Given the description of an element on the screen output the (x, y) to click on. 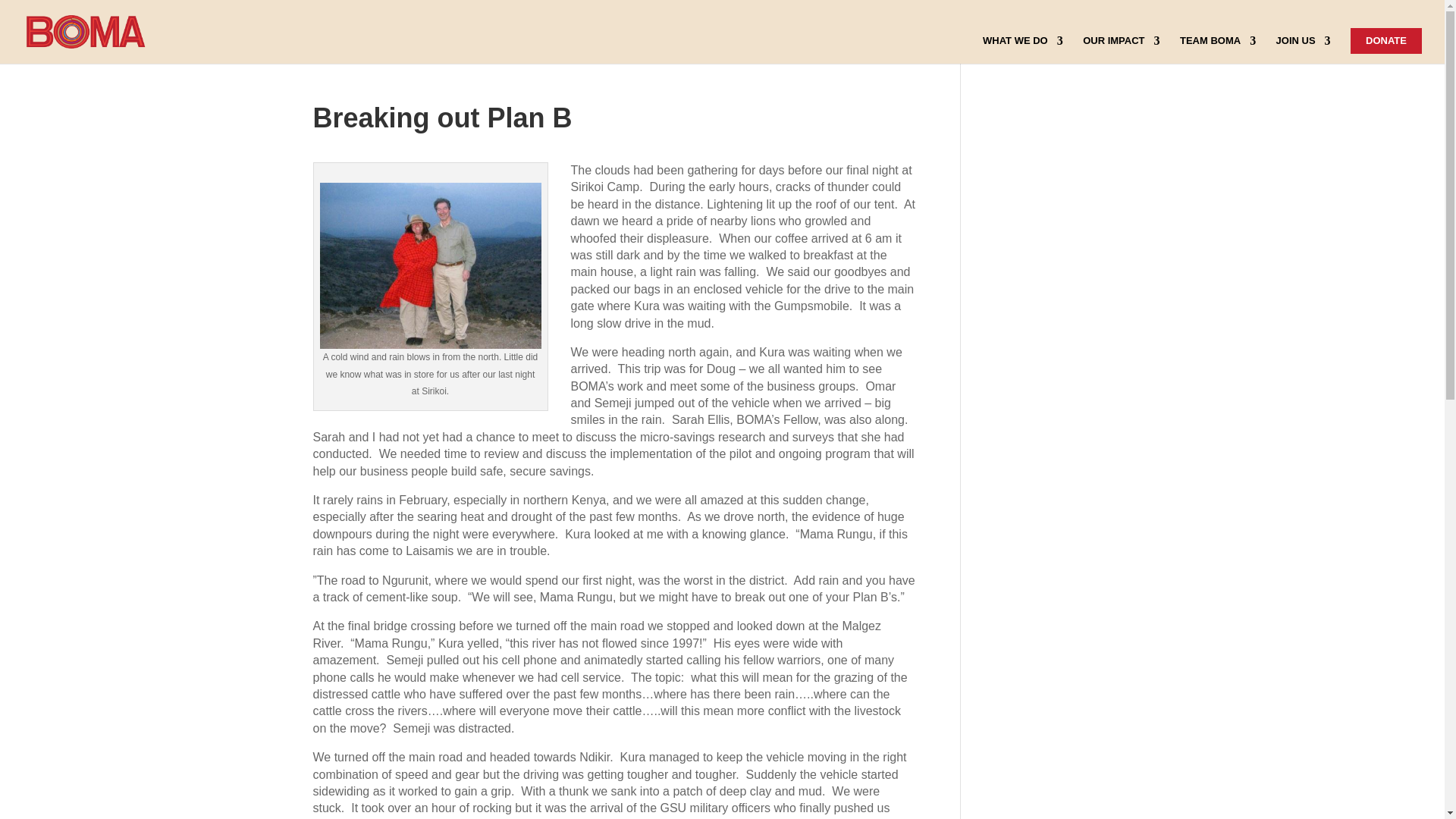
WHAT WE DO (1022, 49)
JOIN US (1303, 49)
DONATE (1386, 40)
TEAM BOMA (1217, 49)
OUR IMPACT (1120, 49)
Final night sirikoi (430, 265)
